Given the description of an element on the screen output the (x, y) to click on. 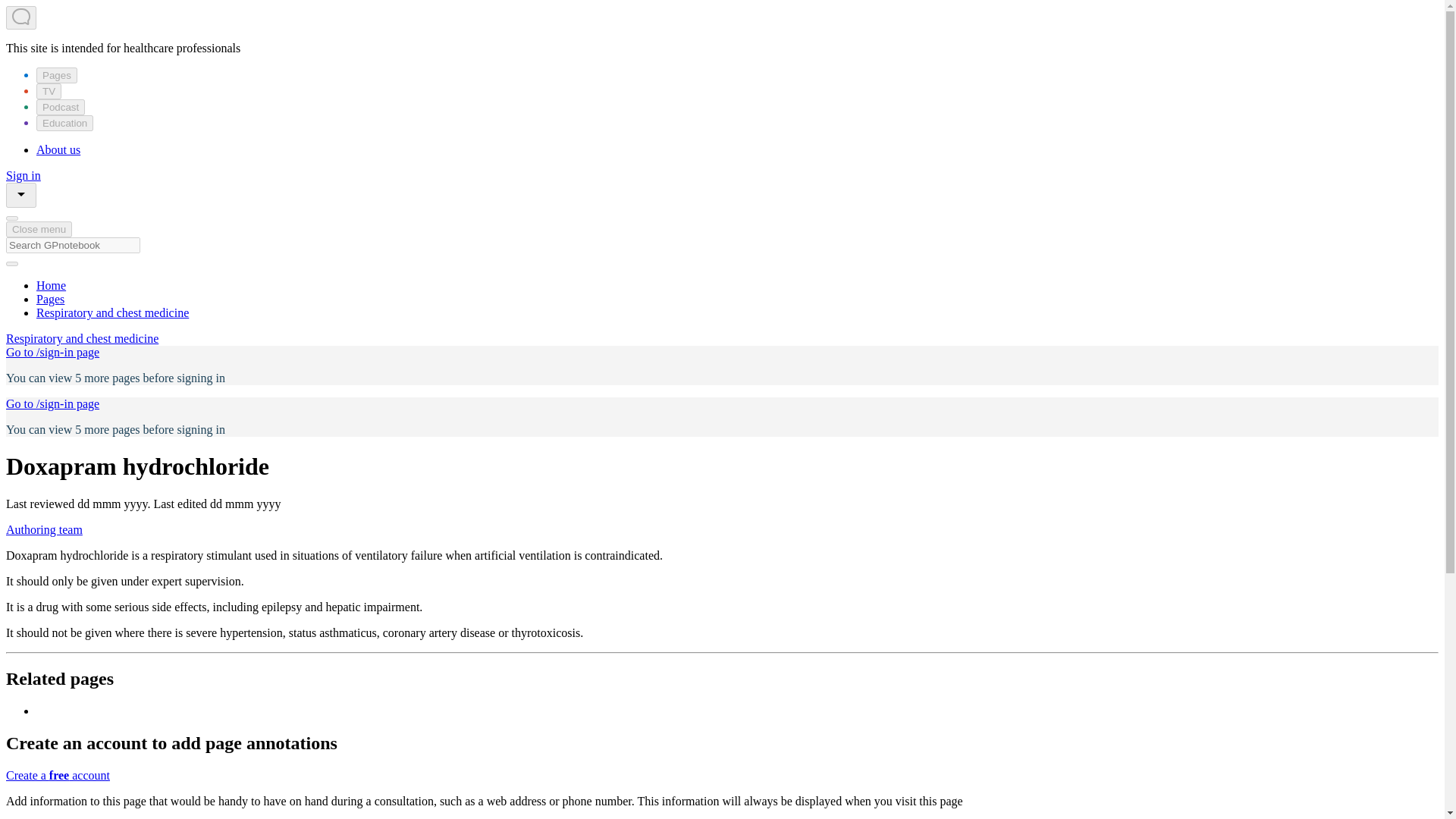
Sign in (22, 174)
Podcast (60, 107)
Respiratory and chest medicine (112, 312)
Close menu (38, 229)
TV (48, 91)
About us (58, 149)
Pages (50, 298)
Pages (56, 75)
Respiratory and chest medicine (81, 338)
Education (64, 123)
Home (50, 285)
Authoring team (43, 529)
